Given the description of an element on the screen output the (x, y) to click on. 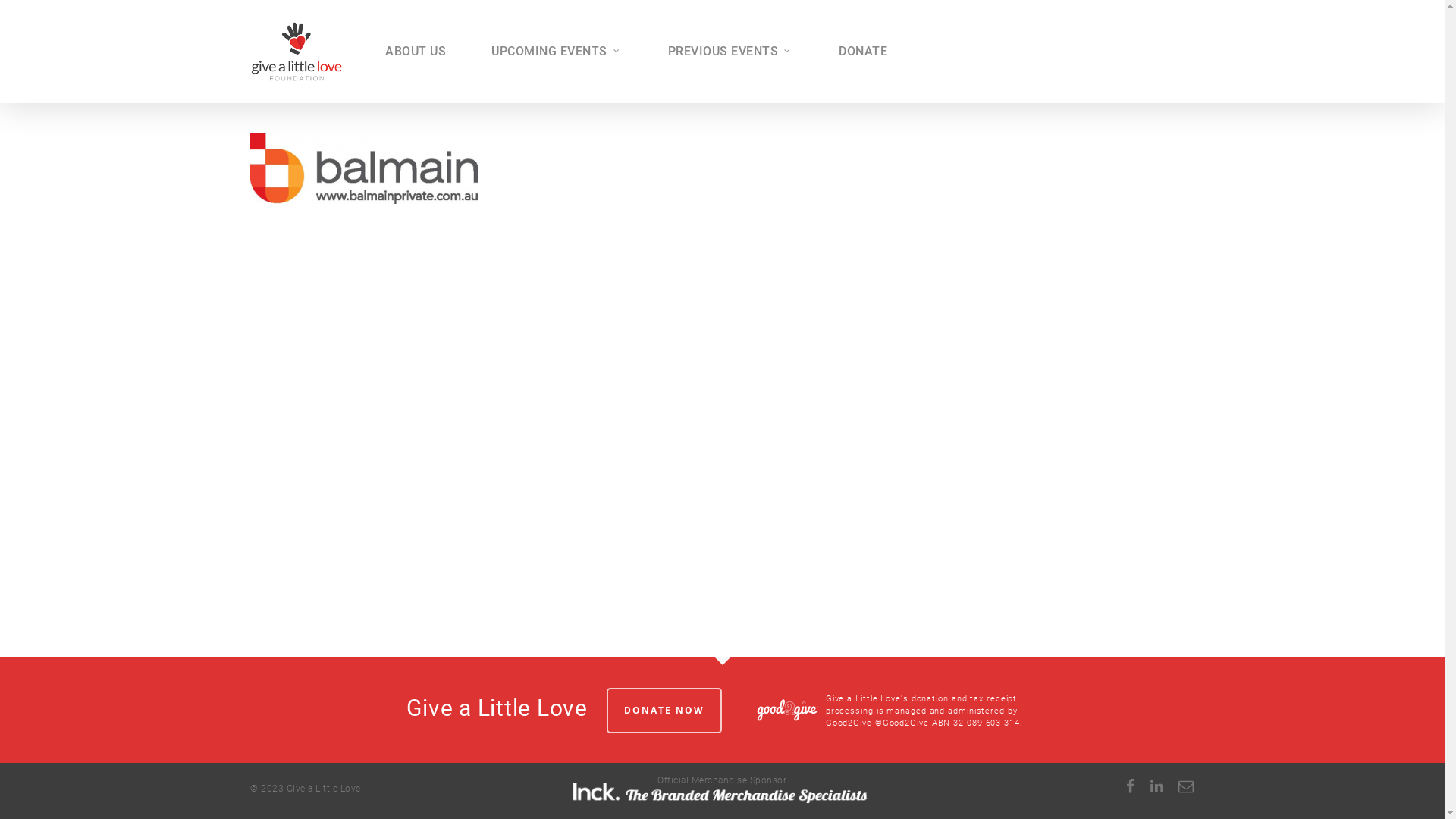
ABOUT US Element type: text (415, 51)
0 Element type: text (1210, 58)
DONATE Element type: text (862, 51)
PREVIOUS EVENTS Element type: text (730, 51)
DONATE NOW Element type: text (663, 710)
UPCOMING EVENTS Element type: text (556, 51)
